Given the description of an element on the screen output the (x, y) to click on. 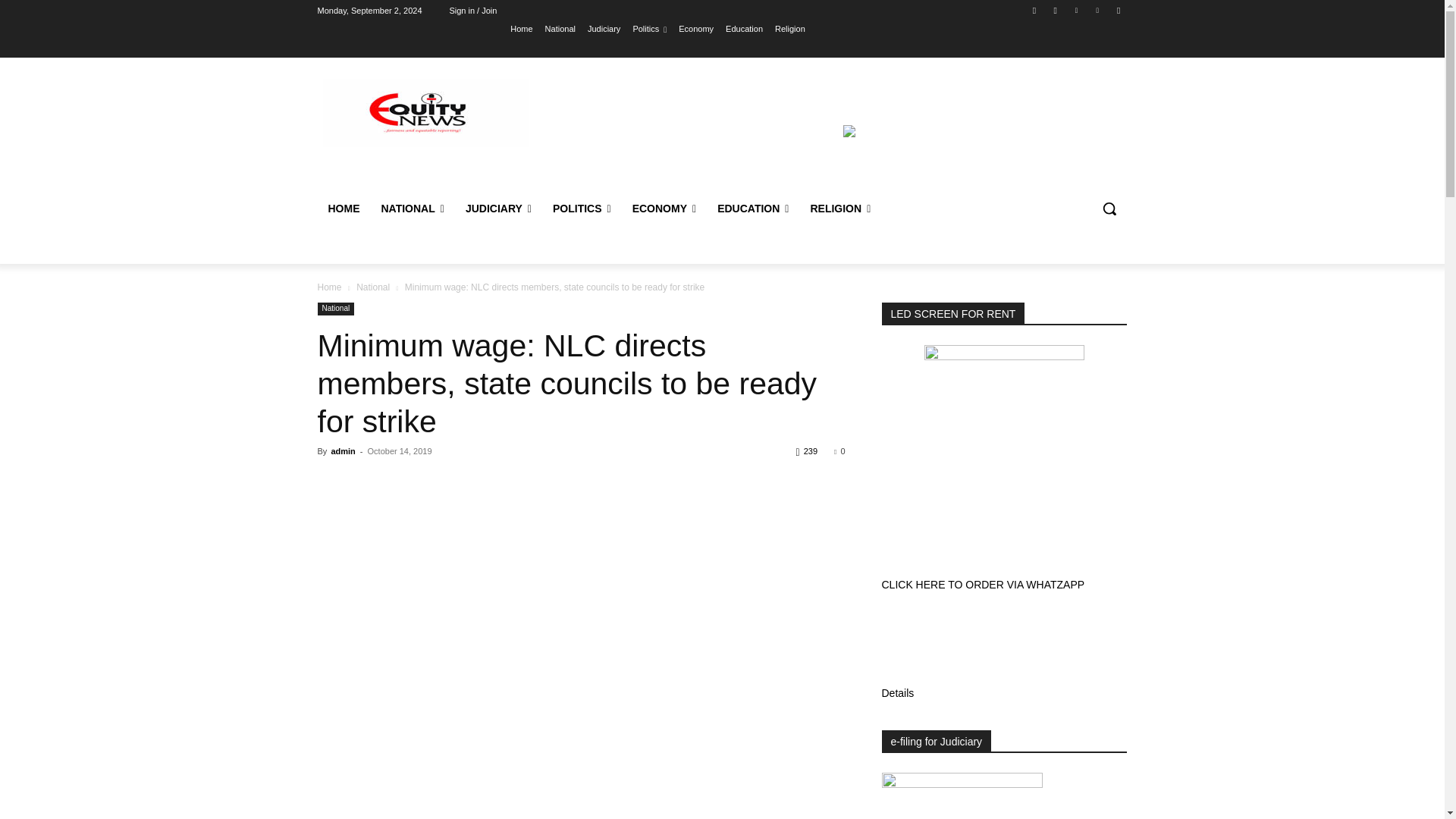
Twitter (1075, 9)
Instagram (1055, 9)
Vimeo (1097, 9)
National (559, 28)
Home (521, 28)
Judiciary (604, 28)
Youtube (1117, 9)
Religion (789, 28)
Economy (695, 28)
Politics (648, 28)
